Given the description of an element on the screen output the (x, y) to click on. 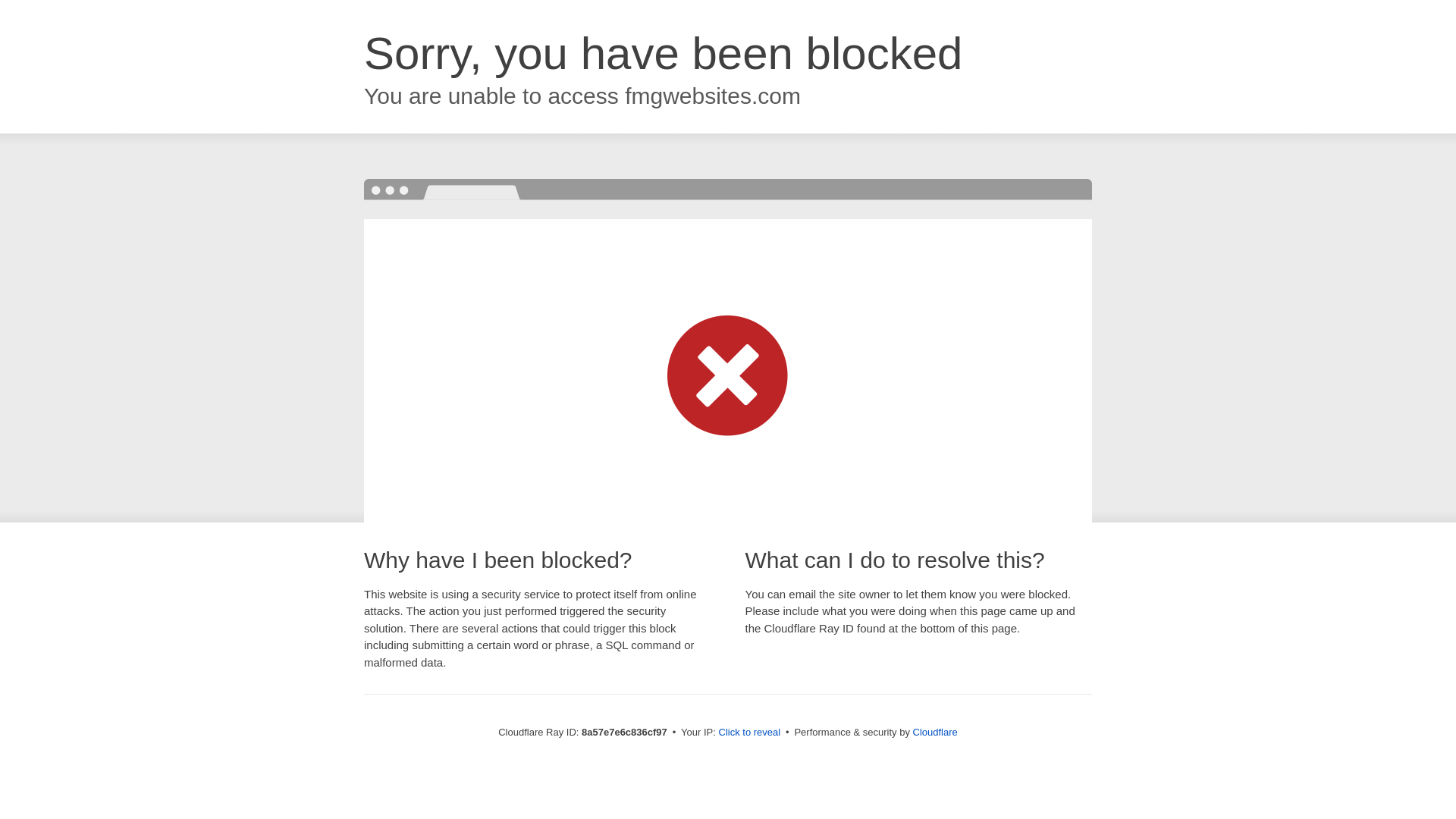
Cloudflare (935, 731)
Click to reveal (749, 732)
